Given the description of an element on the screen output the (x, y) to click on. 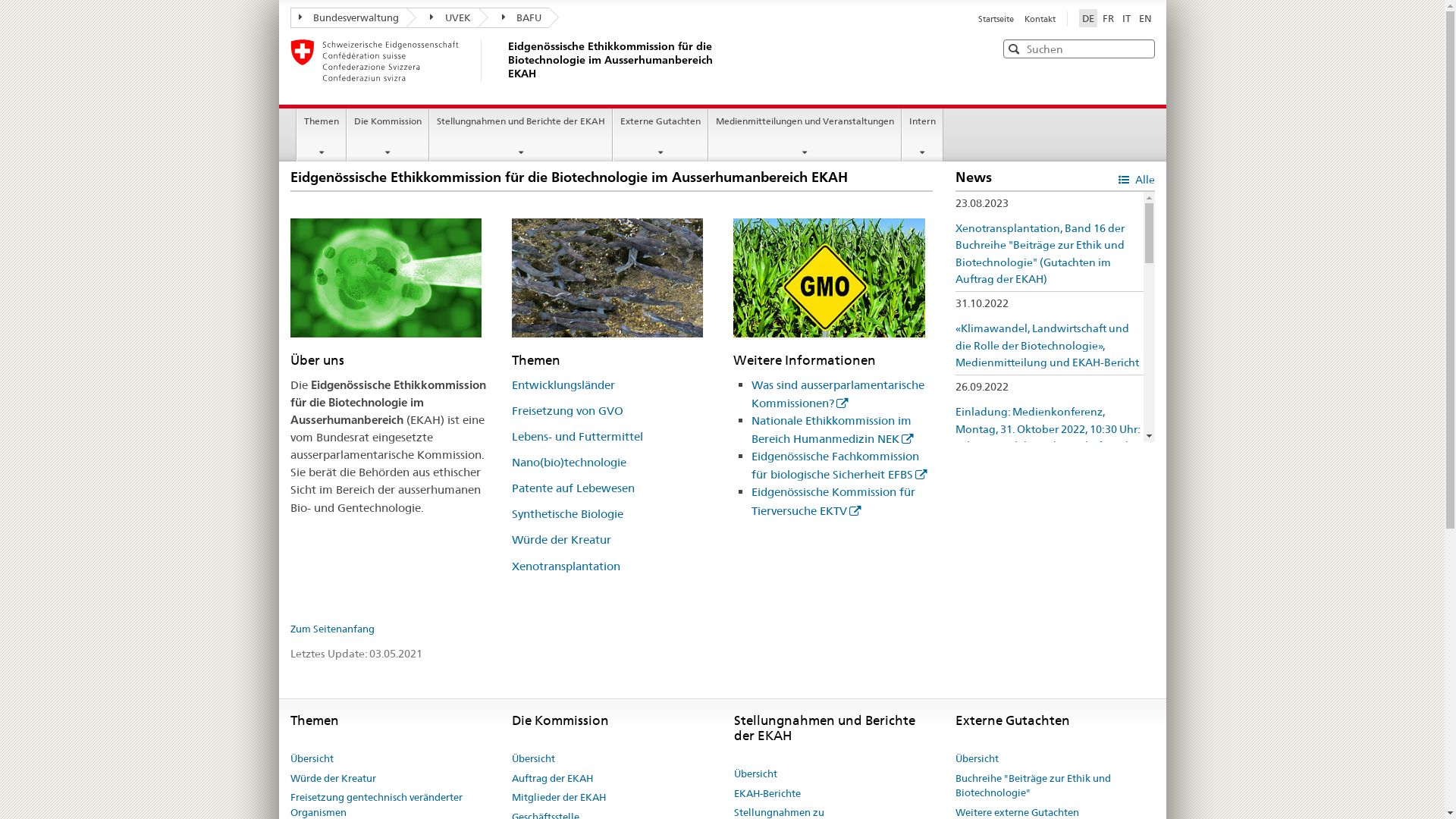
EKAH-Berichte Element type: text (767, 793)
Bundesverwaltung Element type: text (347, 17)
Auftrag der EKAH Element type: text (552, 778)
FR Element type: text (1108, 18)
IT Element type: text (1126, 18)
Externe Gutachten Element type: text (660, 134)
Nano(bio)technologie Element type: text (568, 462)
Die Kommission Element type: text (387, 134)
Themen Element type: text (321, 134)
Zum Seitenanfang Element type: text (331, 628)
Intern Element type: text (922, 134)
Startseite Element type: text (997, 18)
Kontakt Element type: text (1038, 18)
Stellungnahmen und Berichte der EKAH Element type: text (520, 134)
Patente auf Lebewesen Element type: text (572, 487)
DE Element type: text (1087, 18)
Medienmitteilungen und Veranstaltungen Element type: text (804, 134)
EN Element type: text (1144, 18)
UVEK Element type: text (442, 17)
Synthetische Biologie Element type: text (567, 513)
BAFU Element type: text (513, 17)
Was sind ausserparlamentarische Kommissionen? Element type: text (837, 393)
Nationale Ethikkommission im Bereich Humanmedizin NEK Element type: text (832, 429)
Xenotransplantation Element type: text (565, 565)
Mitglieder der EKAH Element type: text (558, 797)
Freisetzung von GVO Element type: text (567, 410)
Alle Element type: text (1135, 178)
Lebens- und Futtermittel Element type: text (577, 436)
